Given the description of an element on the screen output the (x, y) to click on. 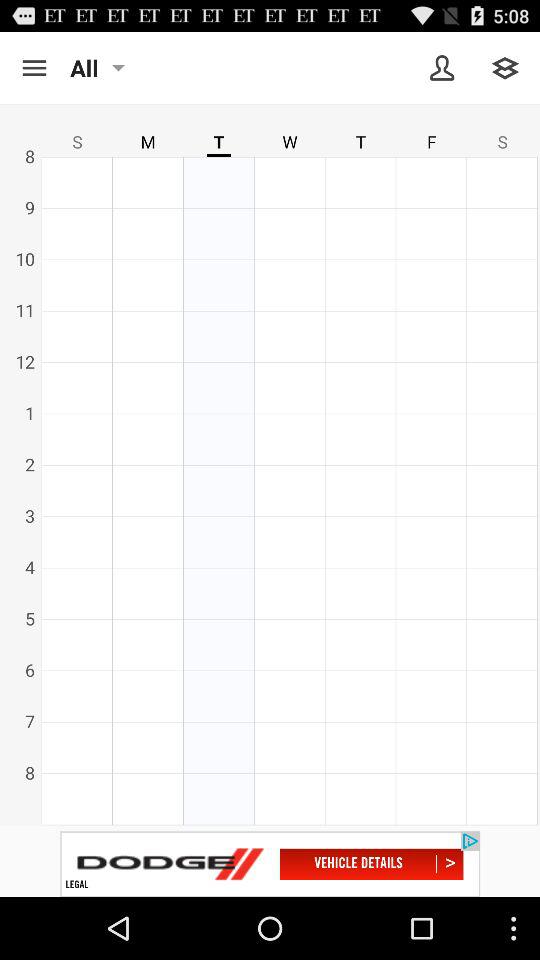
advertisement (270, 864)
